Given the description of an element on the screen output the (x, y) to click on. 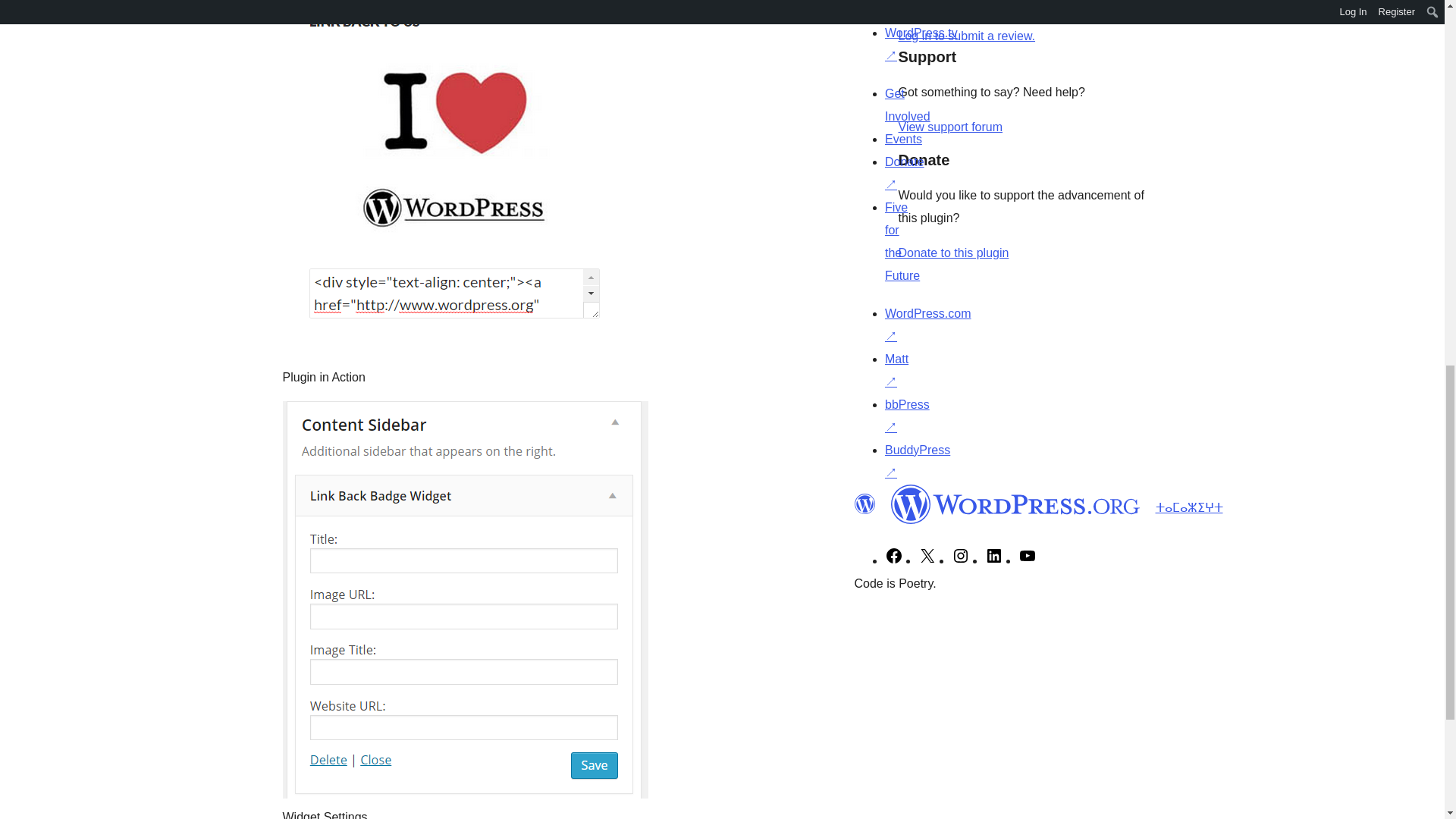
WordPress.org (864, 504)
WordPress.org (1014, 504)
Log in to WordPress.org (966, 35)
